Given the description of an element on the screen output the (x, y) to click on. 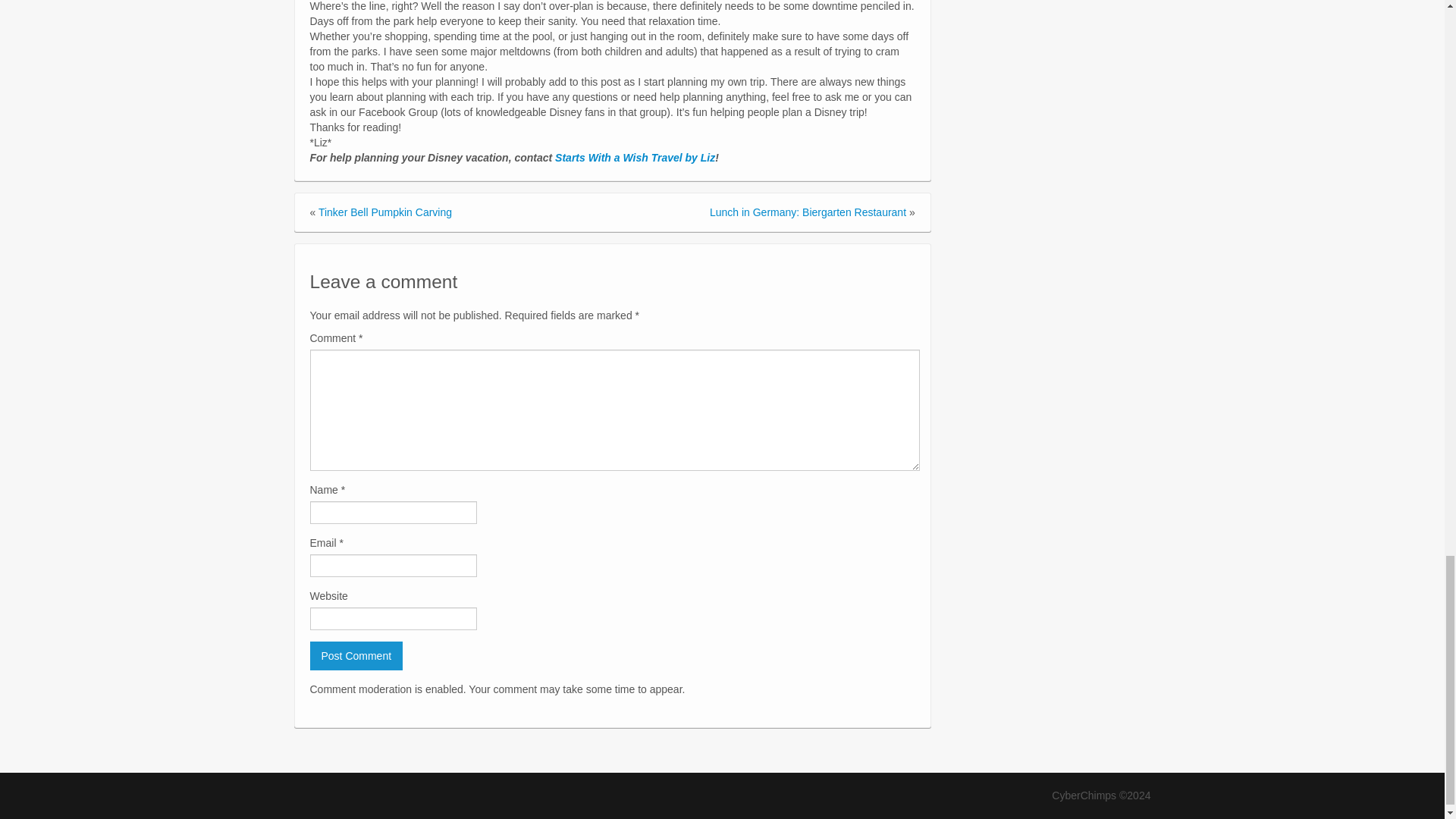
Starts With a Wish Travel by Liz (634, 157)
Post Comment (355, 655)
Post Comment (355, 655)
Lunch in Germany: Biergarten Restaurant (807, 212)
Tinker Bell Pumpkin Carving (384, 212)
